Given the description of an element on the screen output the (x, y) to click on. 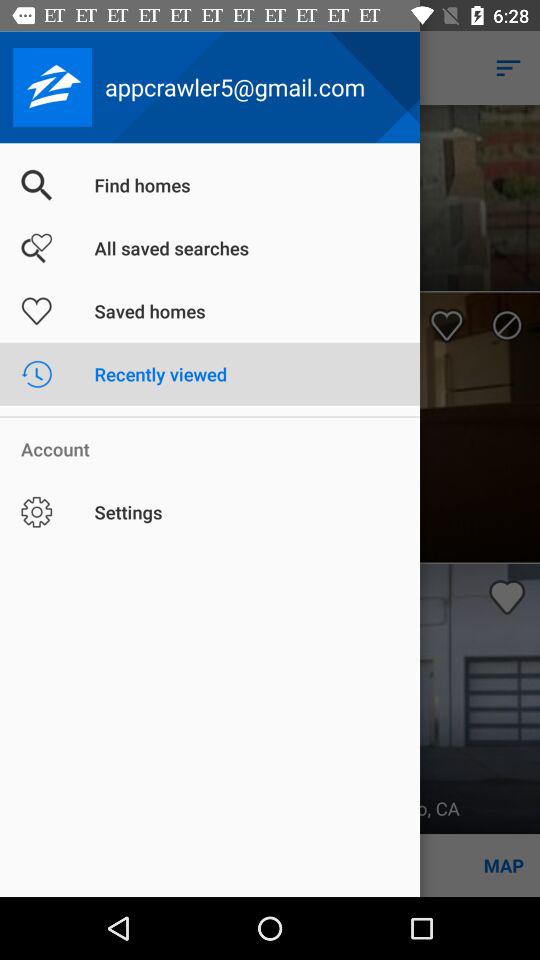
click on sort icon which is at the top right corner (508, 68)
